Given the description of an element on the screen output the (x, y) to click on. 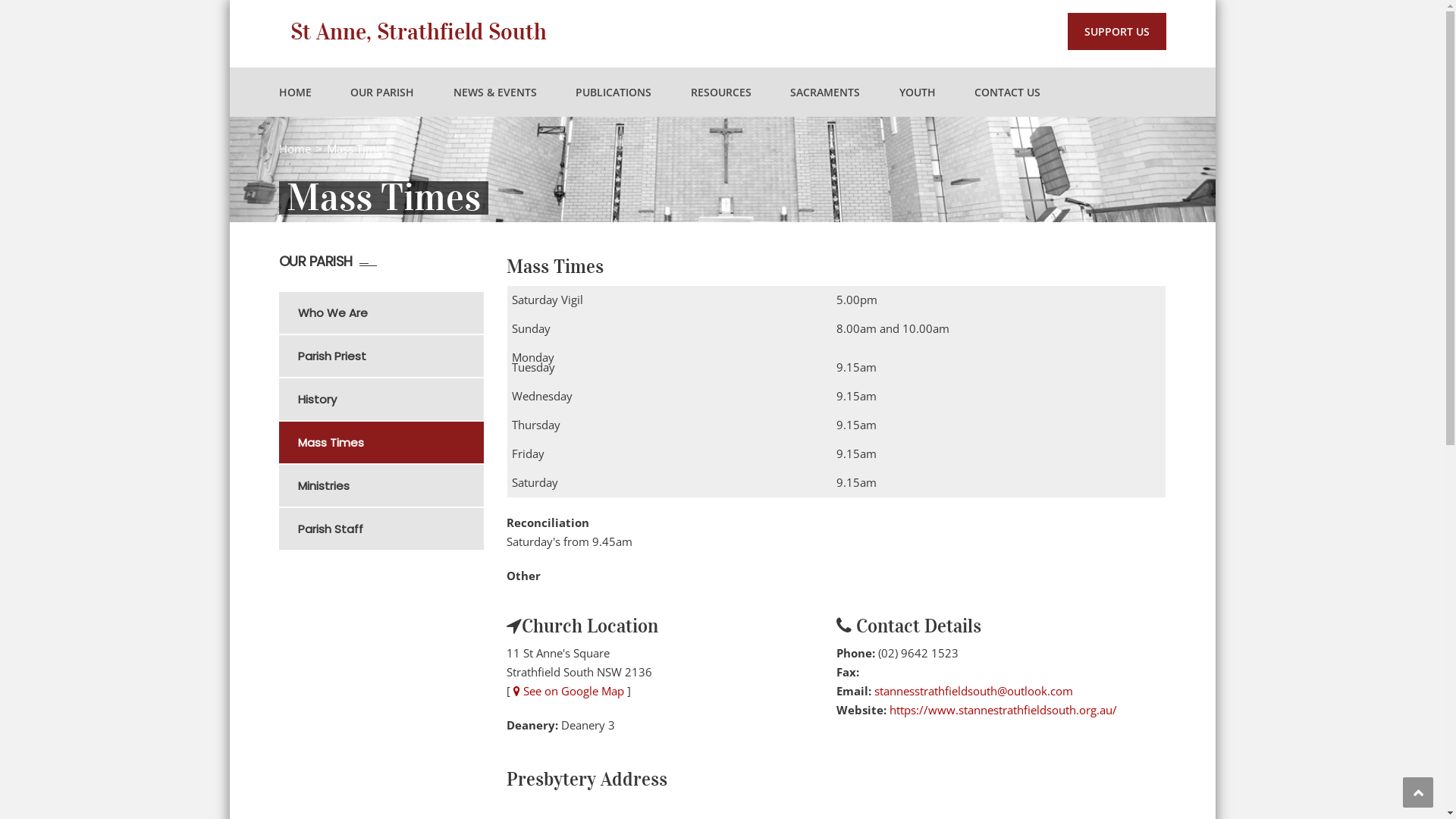
Mass Times Element type: text (390, 442)
History Element type: text (390, 399)
Ministries Element type: text (390, 485)
CONTACT US Element type: text (1007, 91)
See on Google Map Element type: text (567, 690)
Parish Priest Element type: text (390, 355)
Search Element type: text (1144, 160)
HOME Element type: text (295, 91)
https://www.stannestrathfieldsouth.org.au/ Element type: text (1002, 709)
St Anne, Strathfield South Element type: text (417, 31)
YOUTH Element type: text (917, 91)
Parish Staff Element type: text (390, 528)
SUPPORT US Element type: text (1116, 31)
stannesstrathfieldsouth@outlook.com Element type: text (972, 690)
Who We Are Element type: text (390, 312)
PUBLICATIONS Element type: text (613, 91)
NEWS & EVENTS Element type: text (494, 91)
RESOURCES Element type: text (720, 91)
SACRAMENTS Element type: text (824, 91)
Home Element type: text (294, 148)
OUR PARISH Element type: text (382, 91)
